Given the description of an element on the screen output the (x, y) to click on. 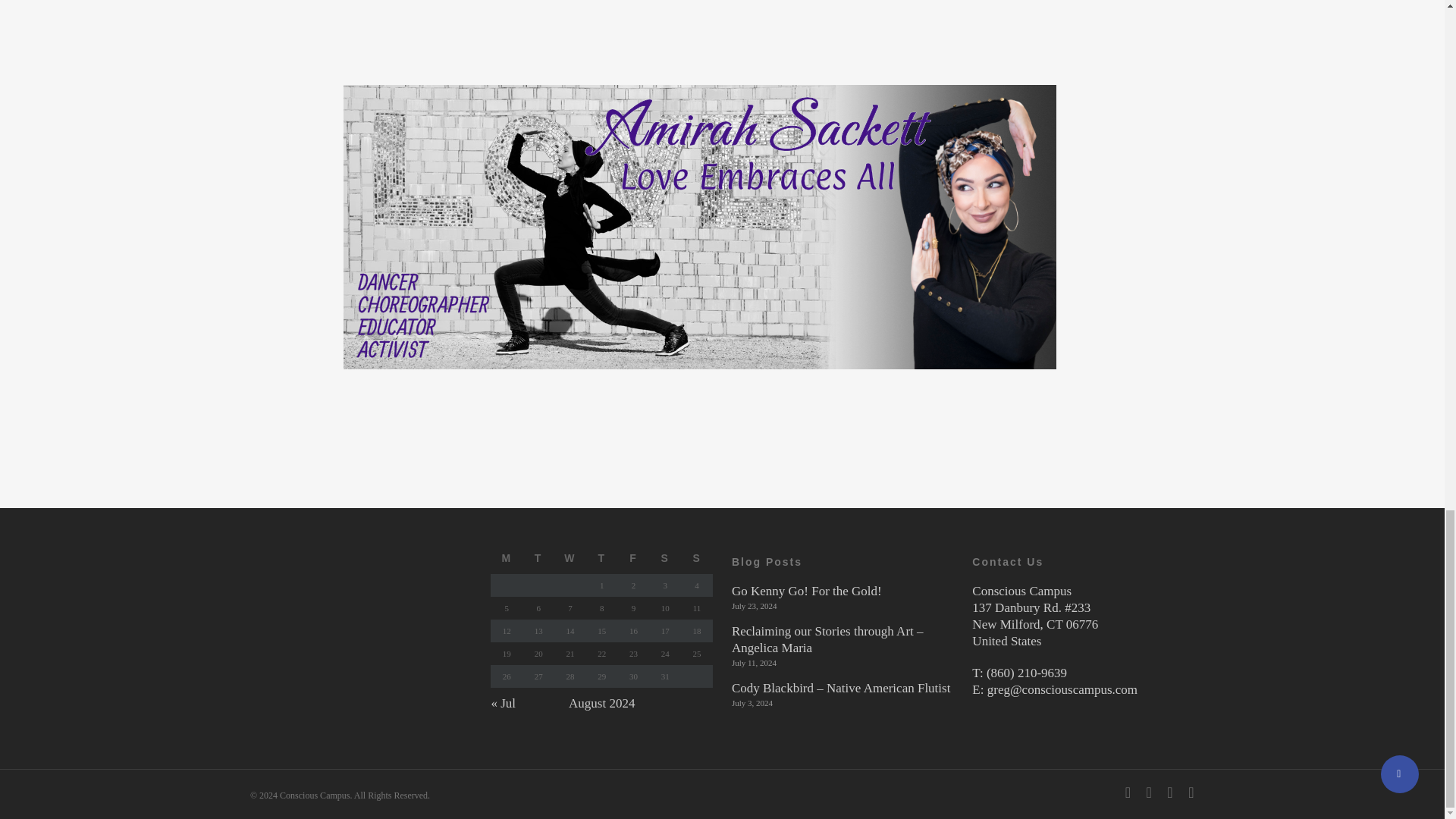
Sunday (697, 561)
Thursday (601, 561)
Wednesday (570, 561)
Tuesday (538, 561)
Saturday (665, 561)
Monday (506, 561)
Go Kenny Go! For the Gold! (842, 591)
Friday (633, 561)
